Given the description of an element on the screen output the (x, y) to click on. 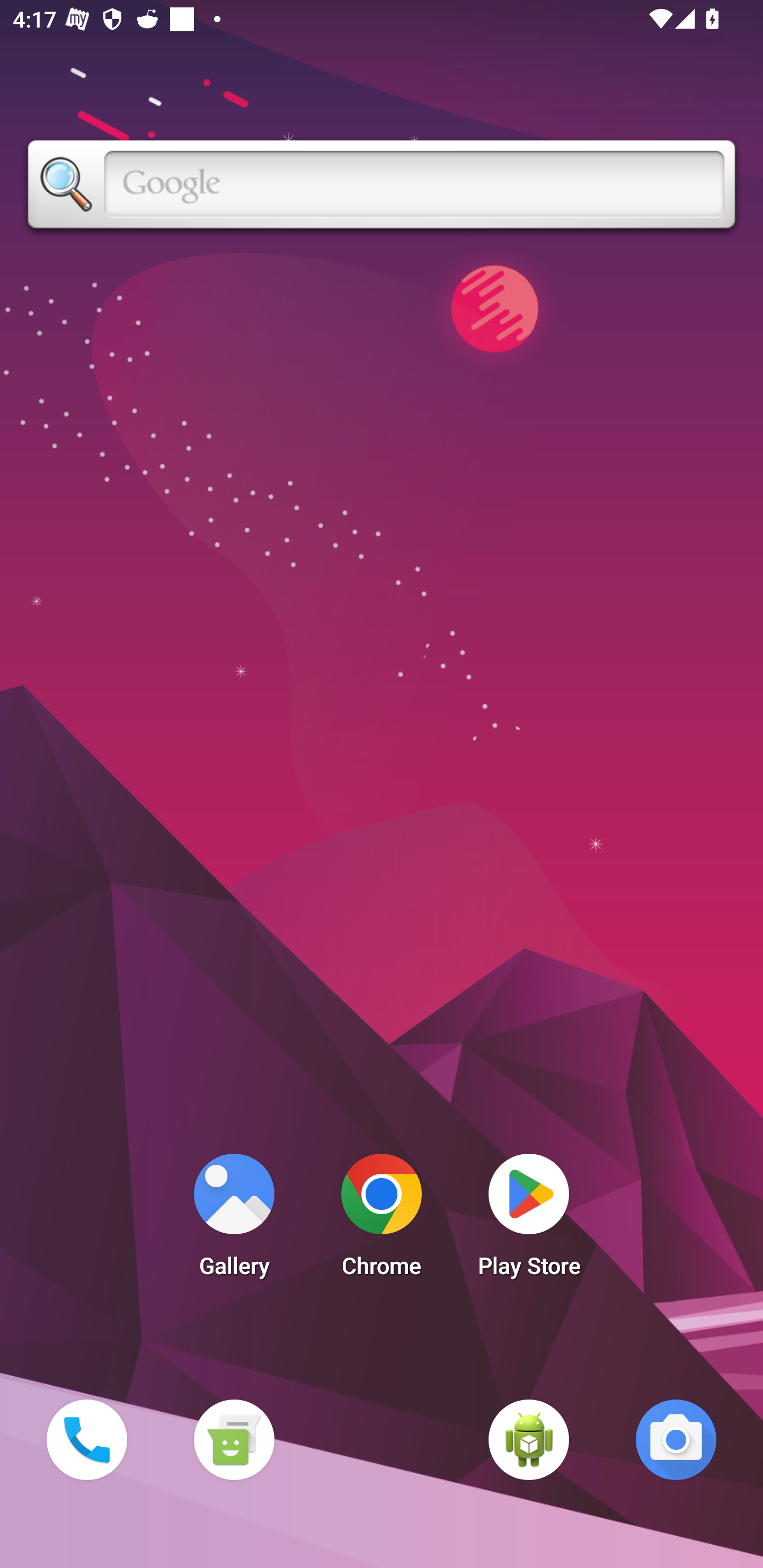
Gallery (233, 1220)
Chrome (381, 1220)
Play Store (528, 1220)
Phone (86, 1439)
Messaging (233, 1439)
WebView Browser Tester (528, 1439)
Camera (676, 1439)
